Given the description of an element on the screen output the (x, y) to click on. 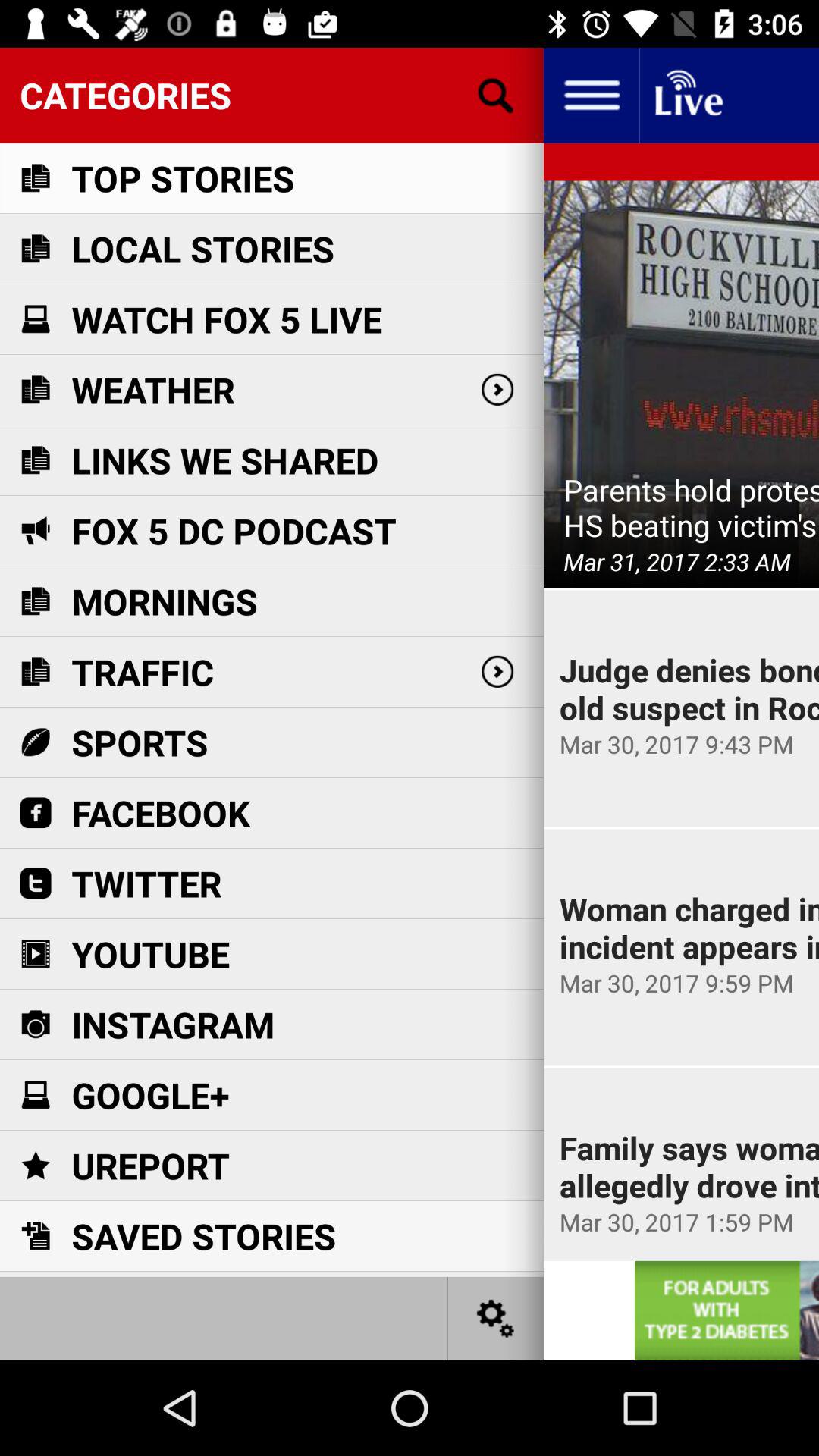
open the advertisement (726, 1310)
